Given the description of an element on the screen output the (x, y) to click on. 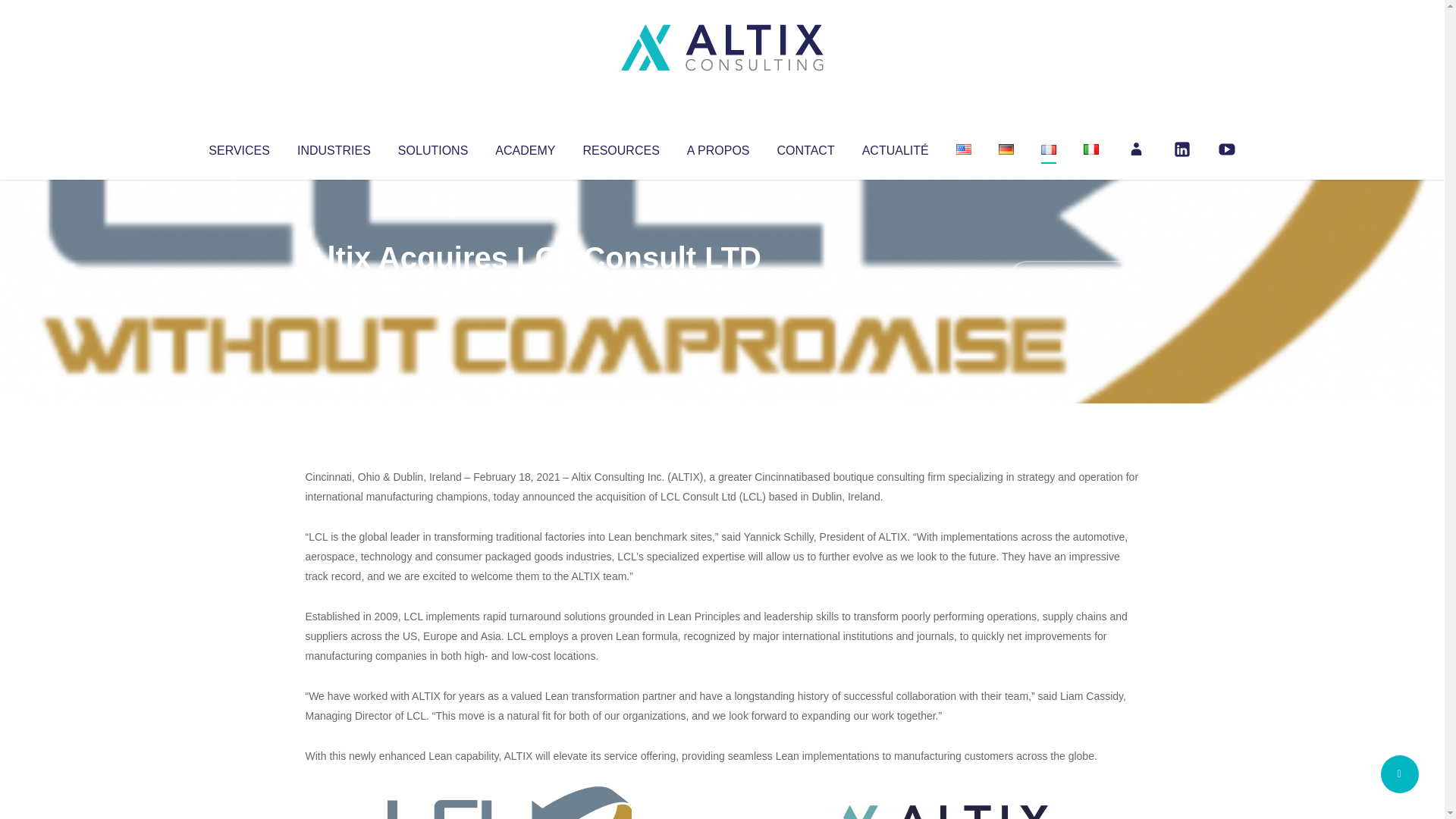
INDUSTRIES (334, 146)
ACADEMY (524, 146)
Altix (333, 287)
A PROPOS (718, 146)
Articles par Altix (333, 287)
No Comments (1073, 278)
SOLUTIONS (432, 146)
SERVICES (238, 146)
Uncategorized (530, 287)
RESOURCES (620, 146)
